Given the description of an element on the screen output the (x, y) to click on. 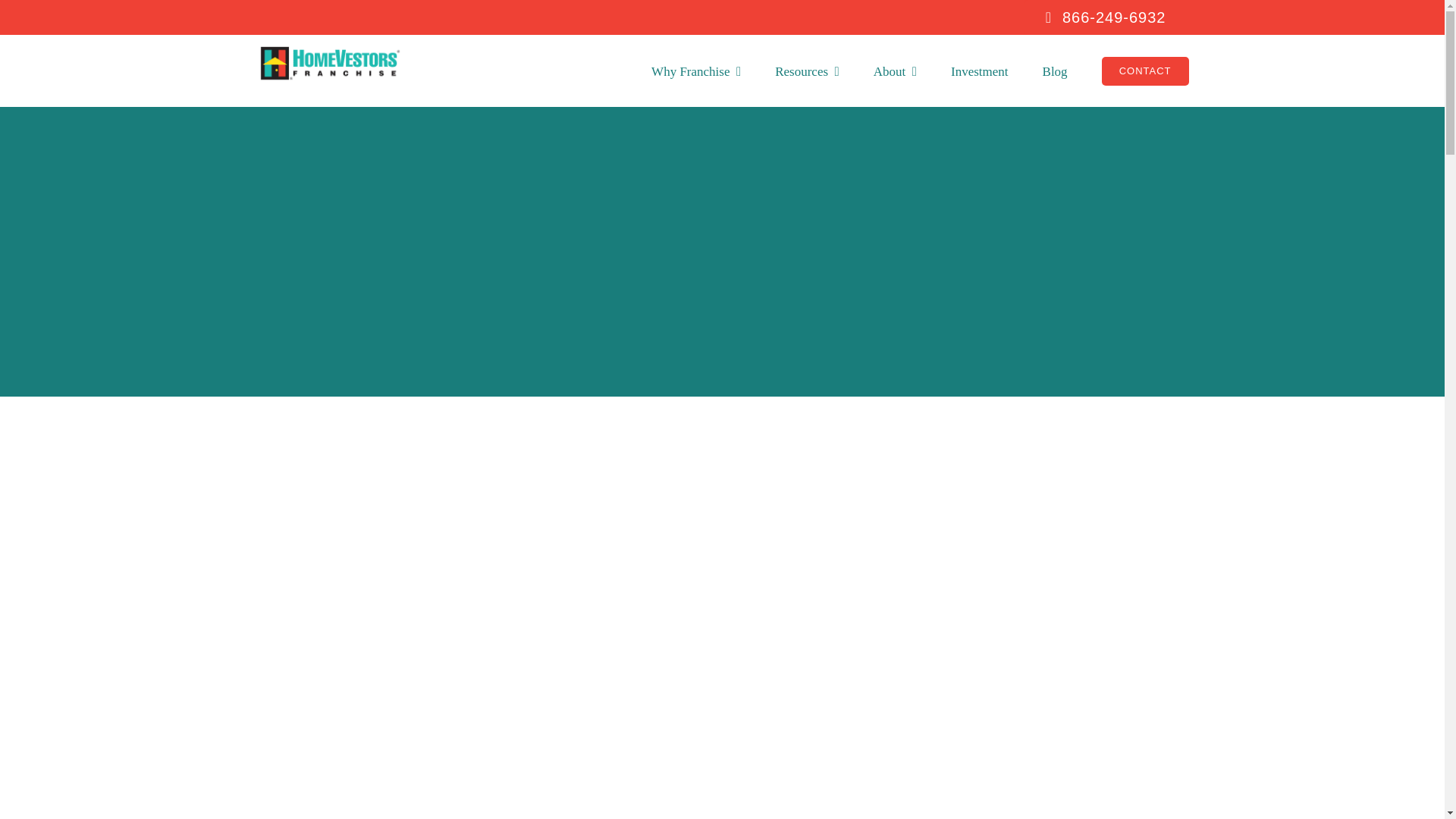
866-249-6932 (1094, 17)
Why Franchise (695, 71)
